Given the description of an element on the screen output the (x, y) to click on. 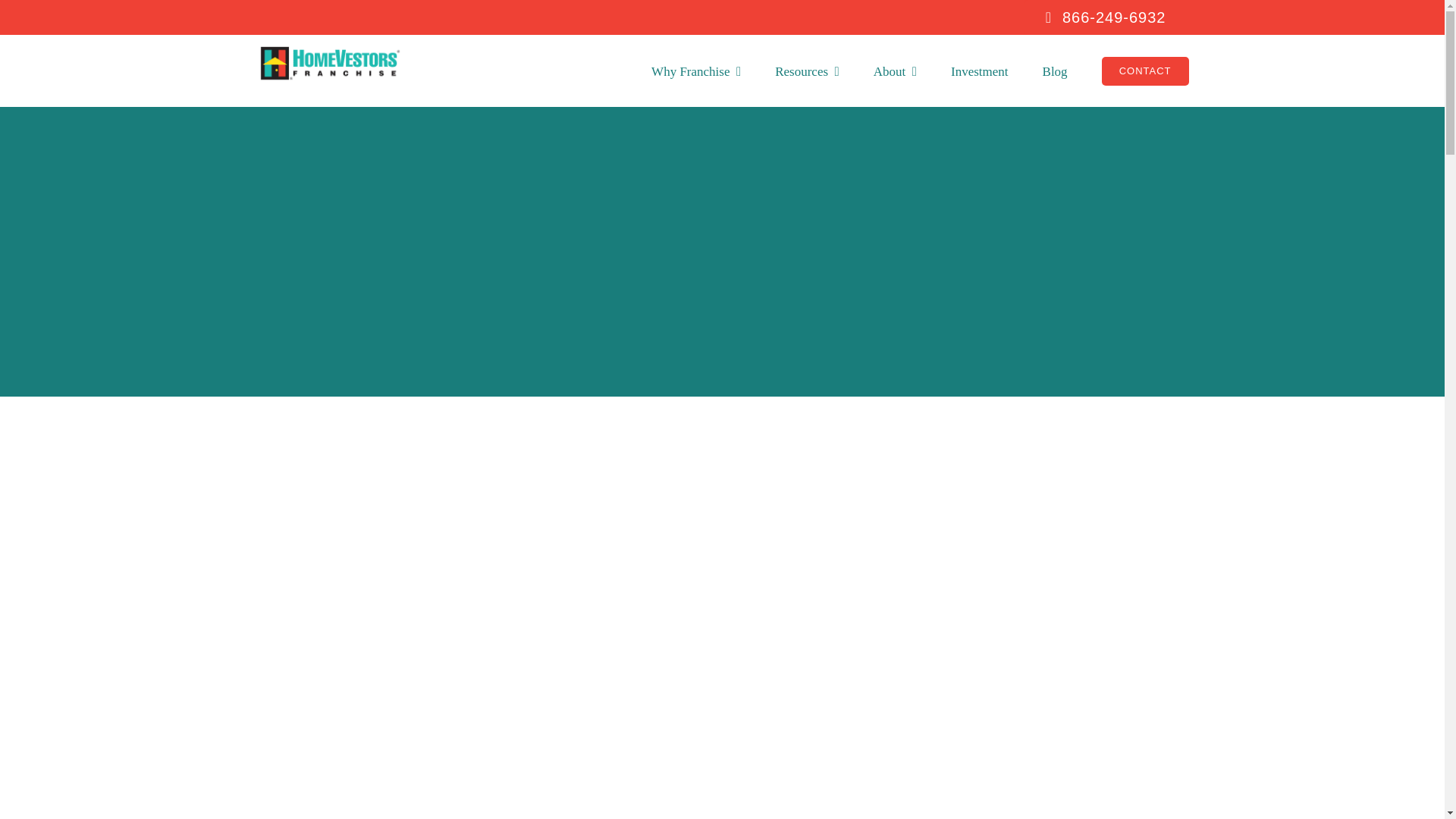
866-249-6932 (1094, 17)
Why Franchise (695, 71)
